Given the description of an element on the screen output the (x, y) to click on. 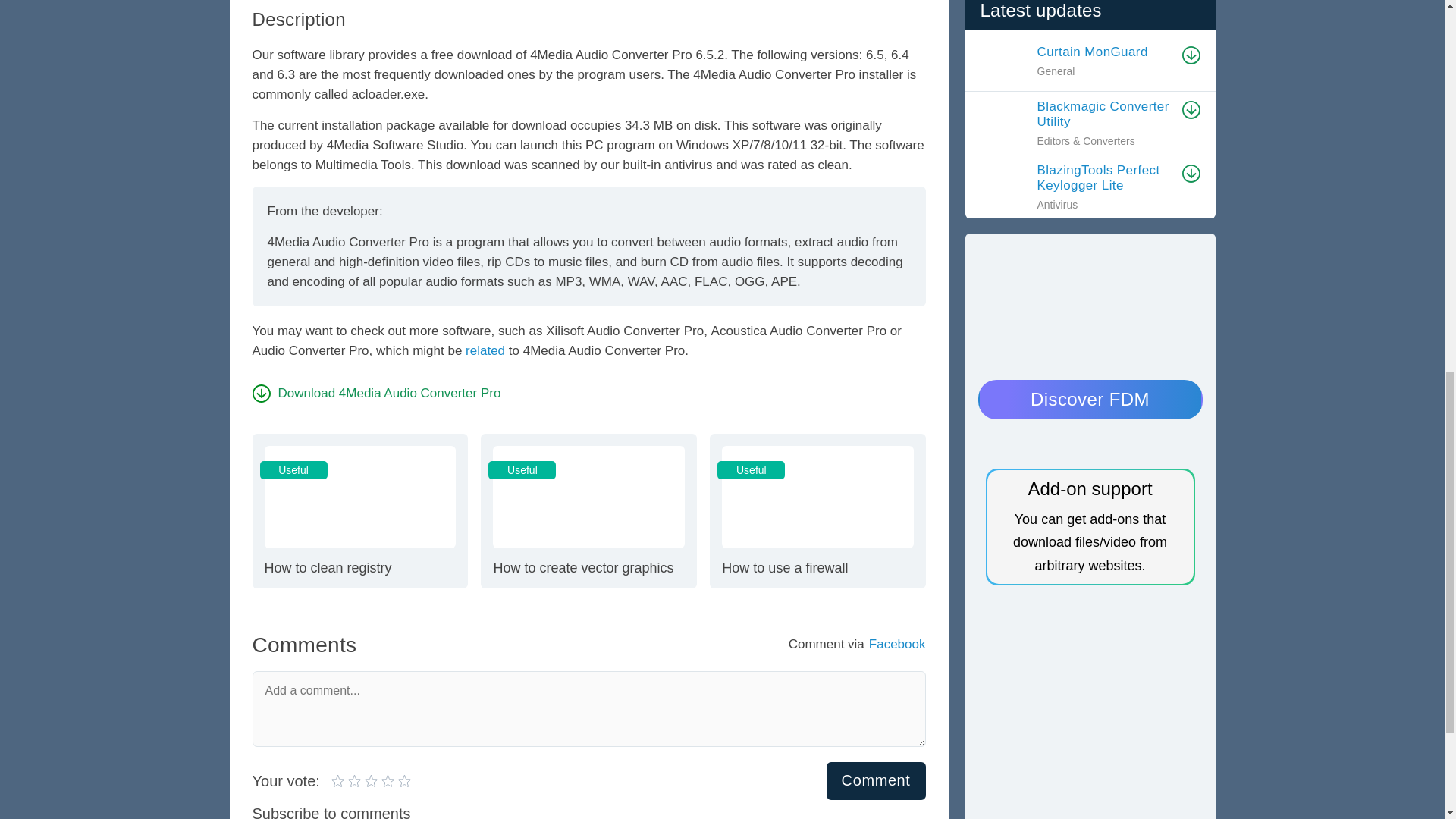
1 (587, 511)
Download 4Media Audio Converter Pro (817, 511)
Comment (338, 780)
5 (375, 392)
Comment (876, 780)
related (370, 780)
4 (876, 780)
